Given the description of an element on the screen output the (x, y) to click on. 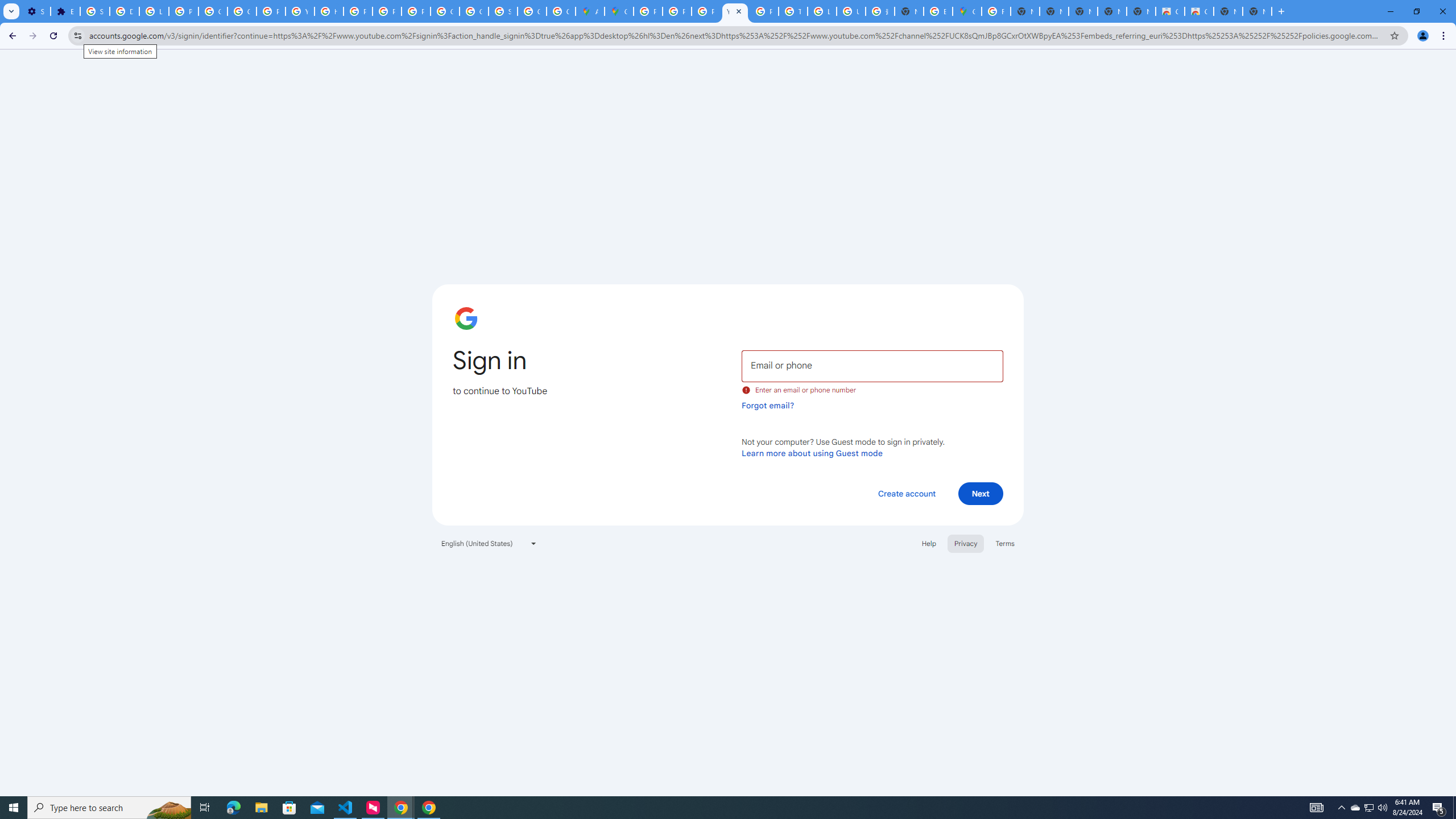
Google Maps (967, 11)
